Given the description of an element on the screen output the (x, y) to click on. 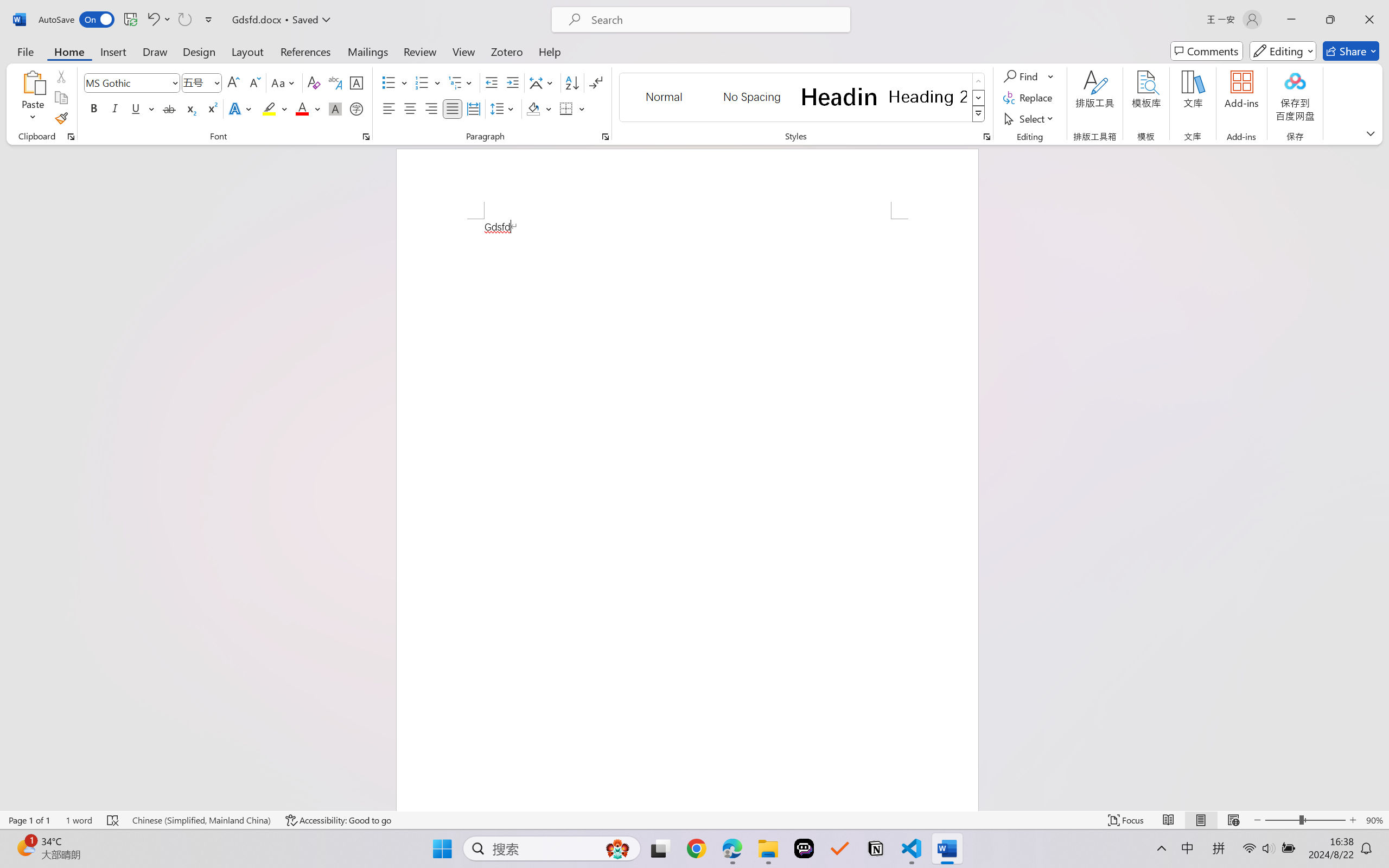
Class: MsoCommandBar (694, 819)
Shading (539, 108)
Font Color Red (302, 108)
